Given the description of an element on the screen output the (x, y) to click on. 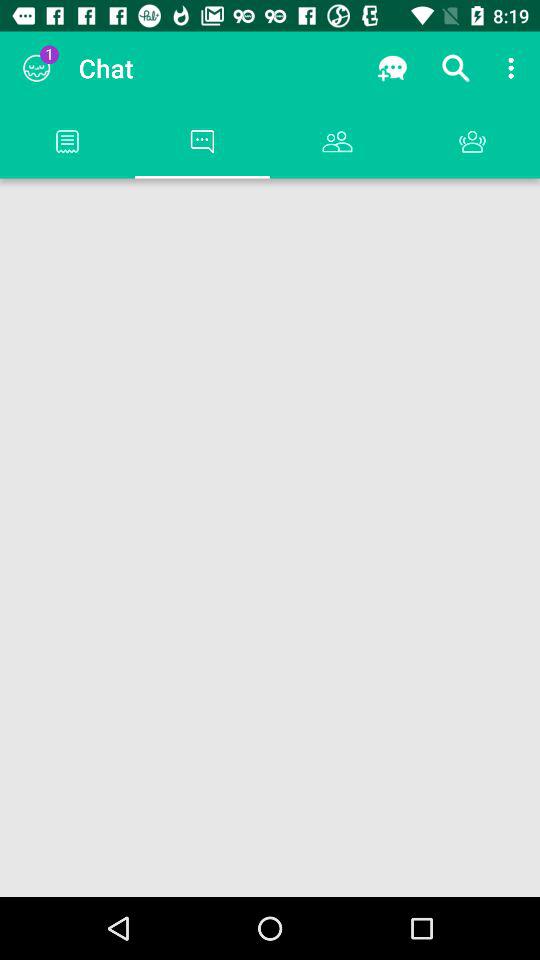
click the app next to chat item (36, 68)
